Given the description of an element on the screen output the (x, y) to click on. 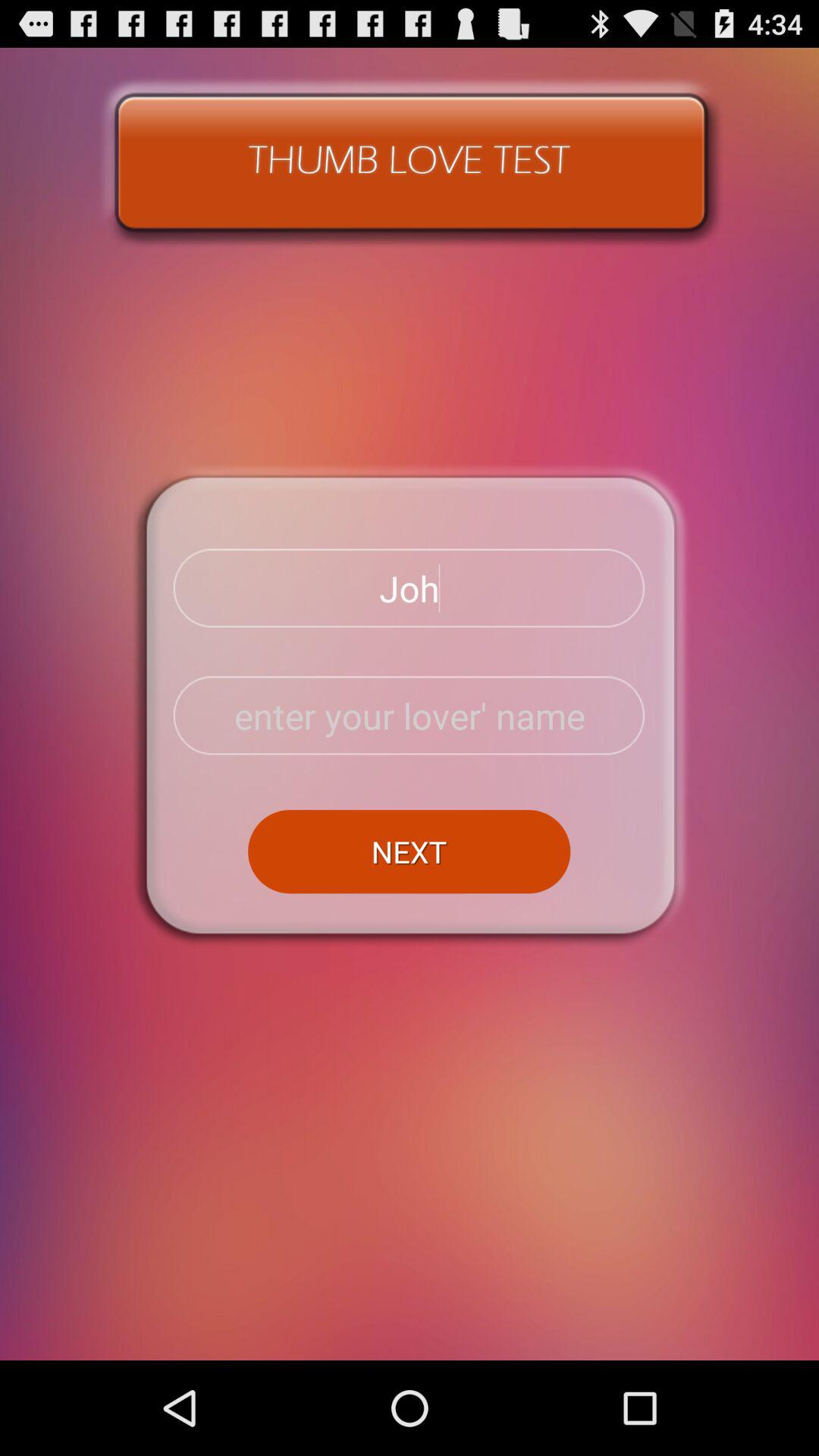
enter your partner 's name (409, 715)
